Given the description of an element on the screen output the (x, y) to click on. 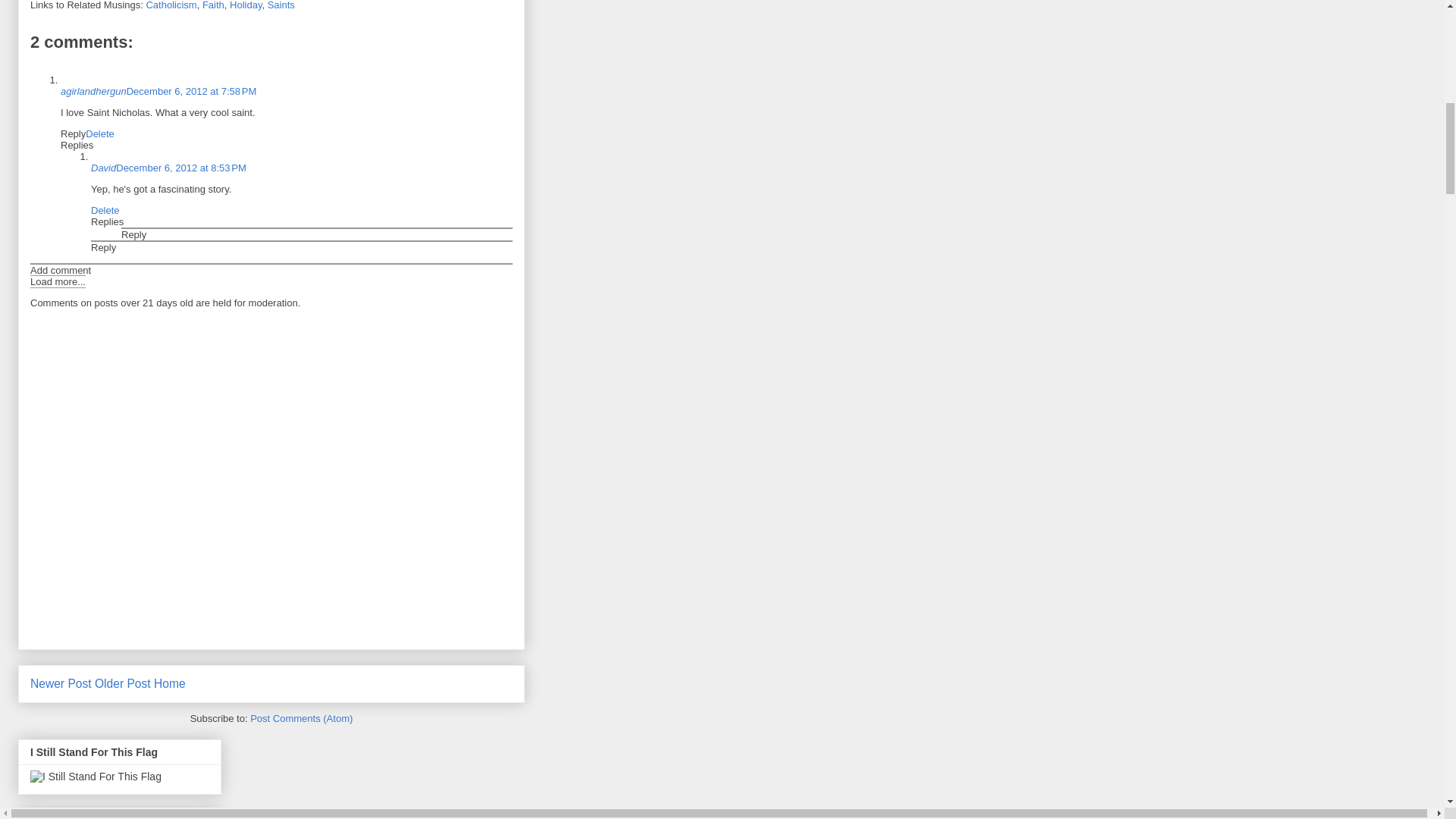
Load more... (57, 281)
Newer Post (60, 683)
Delete (100, 133)
Delete (104, 210)
Reply (73, 133)
Reply (103, 247)
Faith (213, 5)
Add comment (60, 270)
Newer Post (60, 683)
Older Post (122, 683)
Replies (106, 221)
Older Post (122, 683)
David (103, 167)
Replies (77, 144)
